Given the description of an element on the screen output the (x, y) to click on. 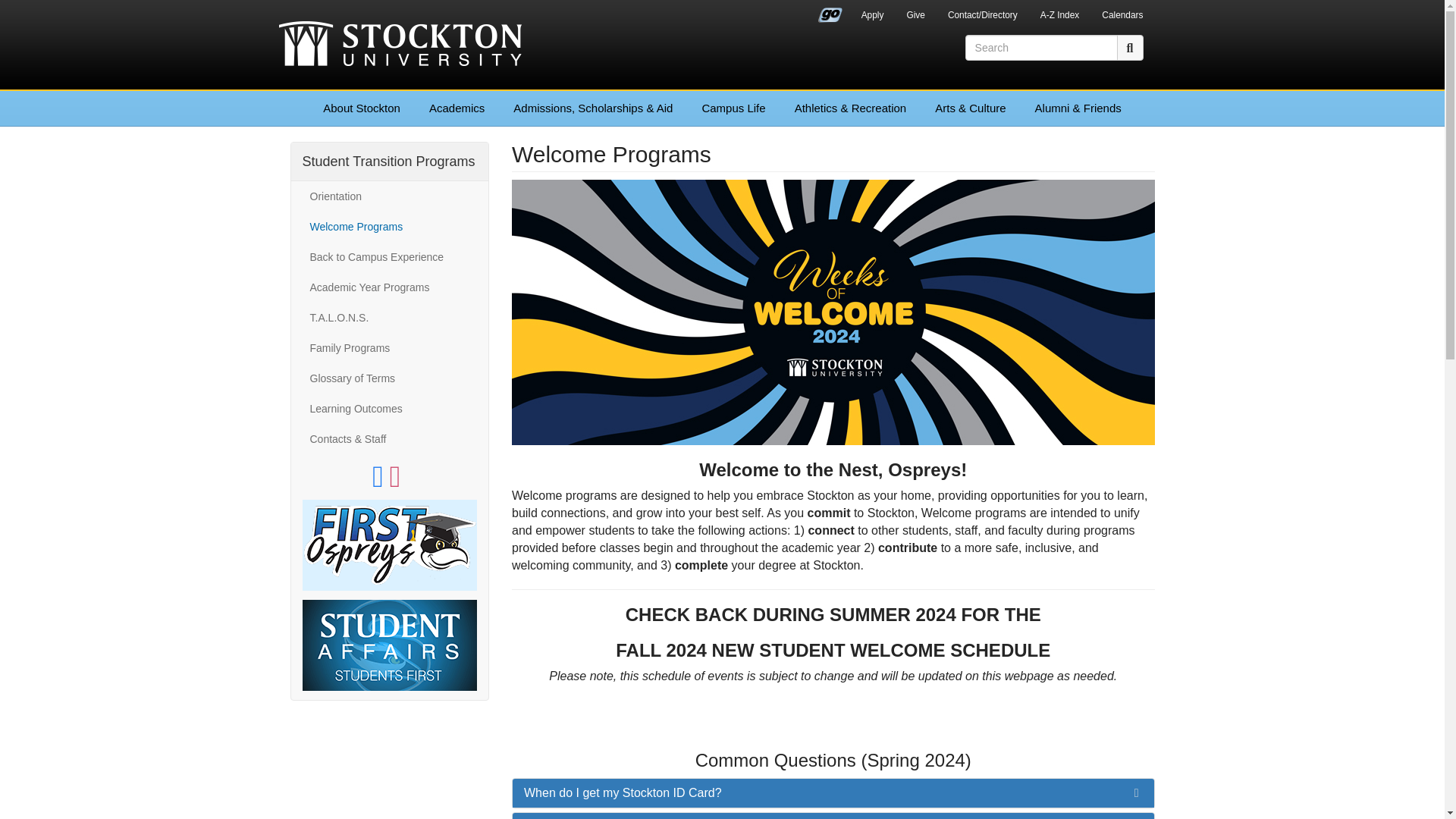
Family Programs (389, 347)
Search (1129, 47)
Back to Campus Experience (389, 256)
Facebook (381, 482)
Campus Life (732, 108)
Stockton University (400, 45)
Student Transition Programs (387, 160)
Go Portal (830, 11)
T.A.L.O.N.S. (389, 317)
Academics (456, 108)
Orientation (389, 195)
A-Z Index (1059, 17)
Glossary of Terms (389, 378)
Calendars (1122, 17)
Academic Year Programs (389, 286)
